Given the description of an element on the screen output the (x, y) to click on. 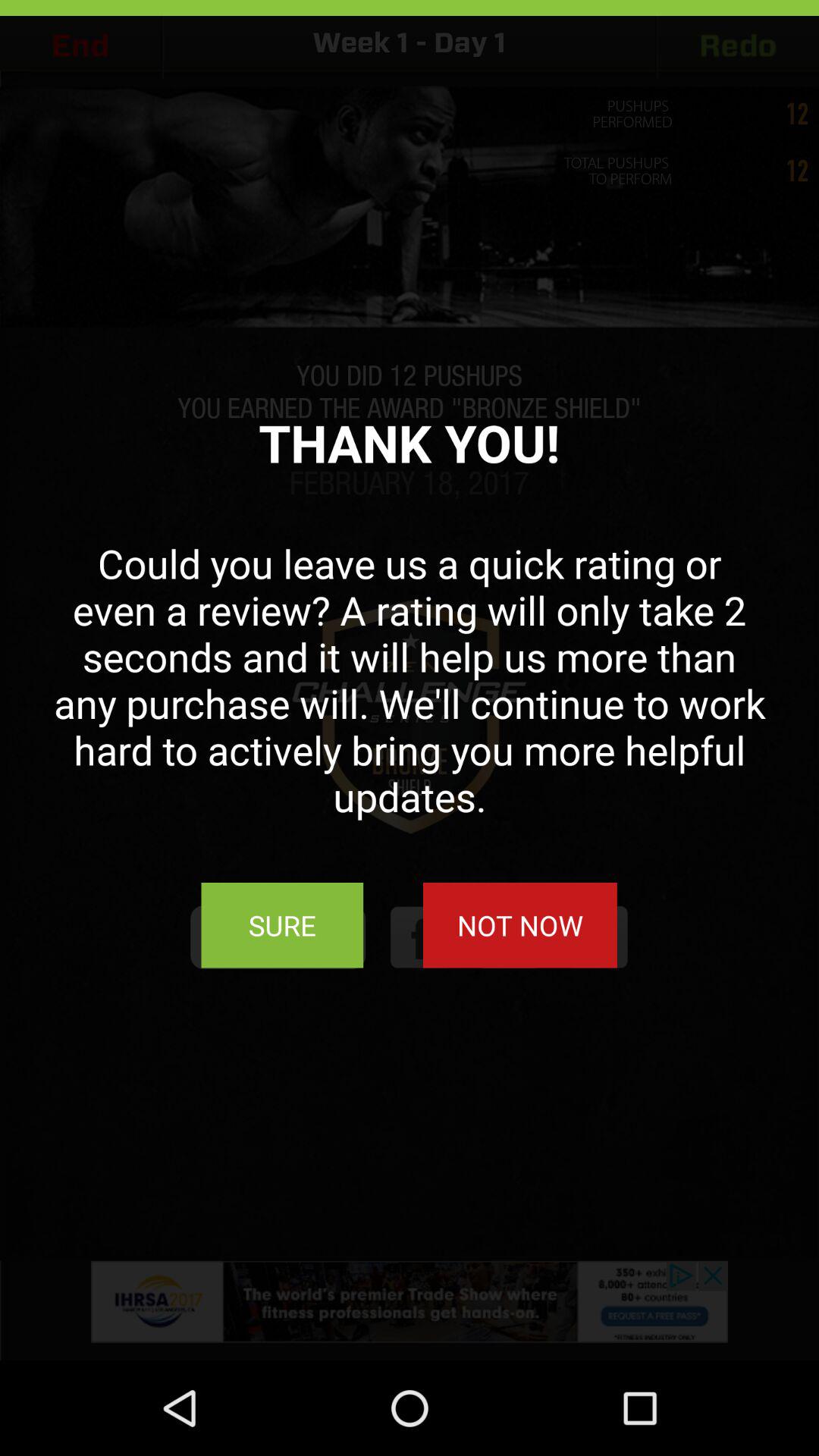
turn off item below could you leave icon (282, 925)
